Given the description of an element on the screen output the (x, y) to click on. 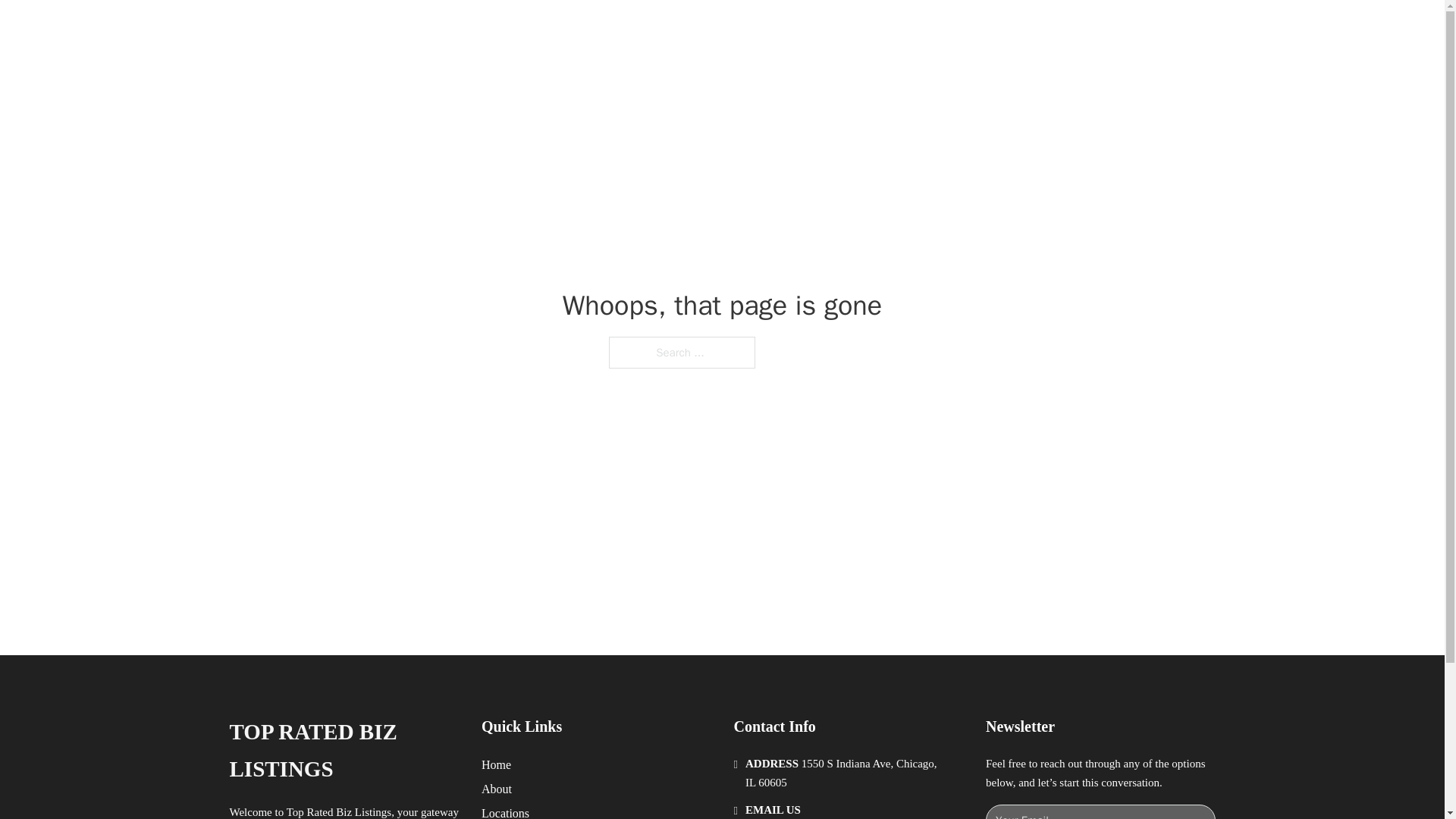
TOP RATED BIZ LISTINGS (432, 28)
About (496, 788)
TOP RATED BIZ LISTINGS (343, 750)
HOME (919, 29)
Home (496, 764)
Locations (505, 811)
LOCATIONS (990, 29)
